Given the description of an element on the screen output the (x, y) to click on. 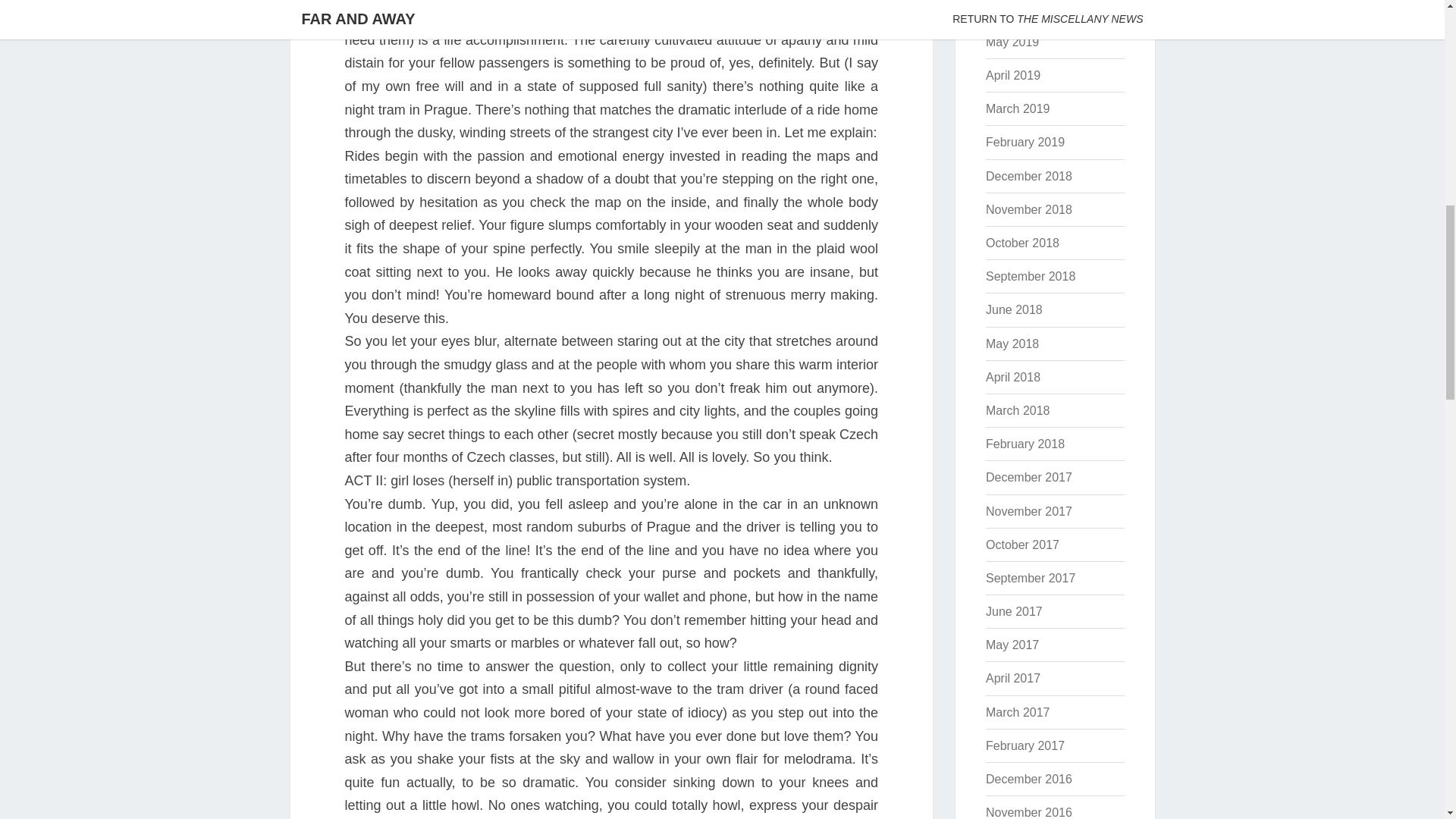
March 2019 (1017, 108)
April 2019 (1013, 74)
May 2019 (1012, 42)
February 2019 (1024, 141)
December 2018 (1028, 175)
March 2018 (1017, 410)
September 2018 (1030, 276)
May 2018 (1012, 343)
October 2018 (1022, 242)
June 2018 (1013, 309)
April 2018 (1013, 377)
November 2018 (1028, 209)
June 2019 (1013, 8)
